Given the description of an element on the screen output the (x, y) to click on. 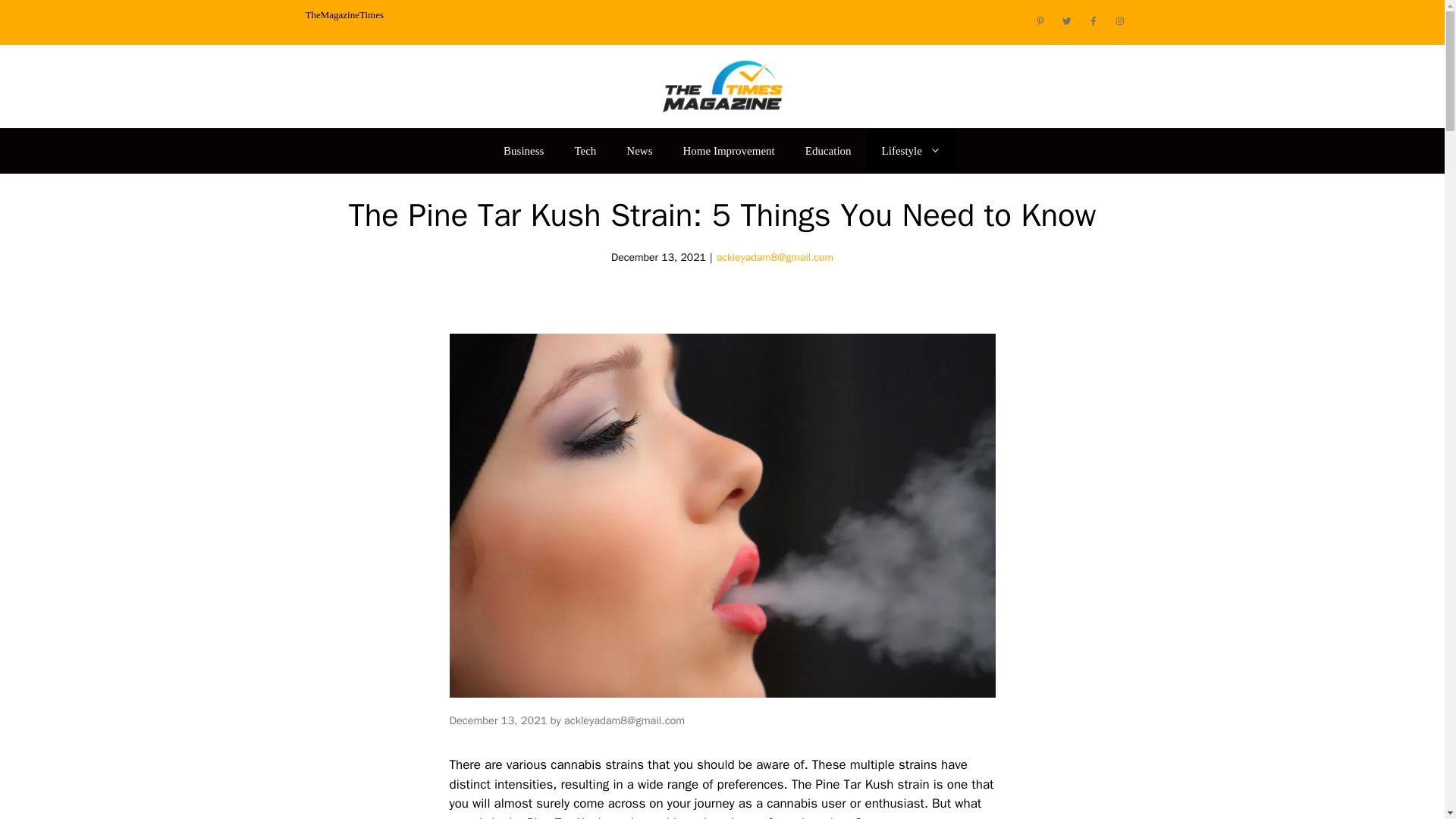
Tech (585, 150)
News (638, 150)
Home Improvement (729, 150)
Business (523, 150)
Lifestyle (911, 150)
Education (828, 150)
TheMagazineTimes (344, 14)
